Given the description of an element on the screen output the (x, y) to click on. 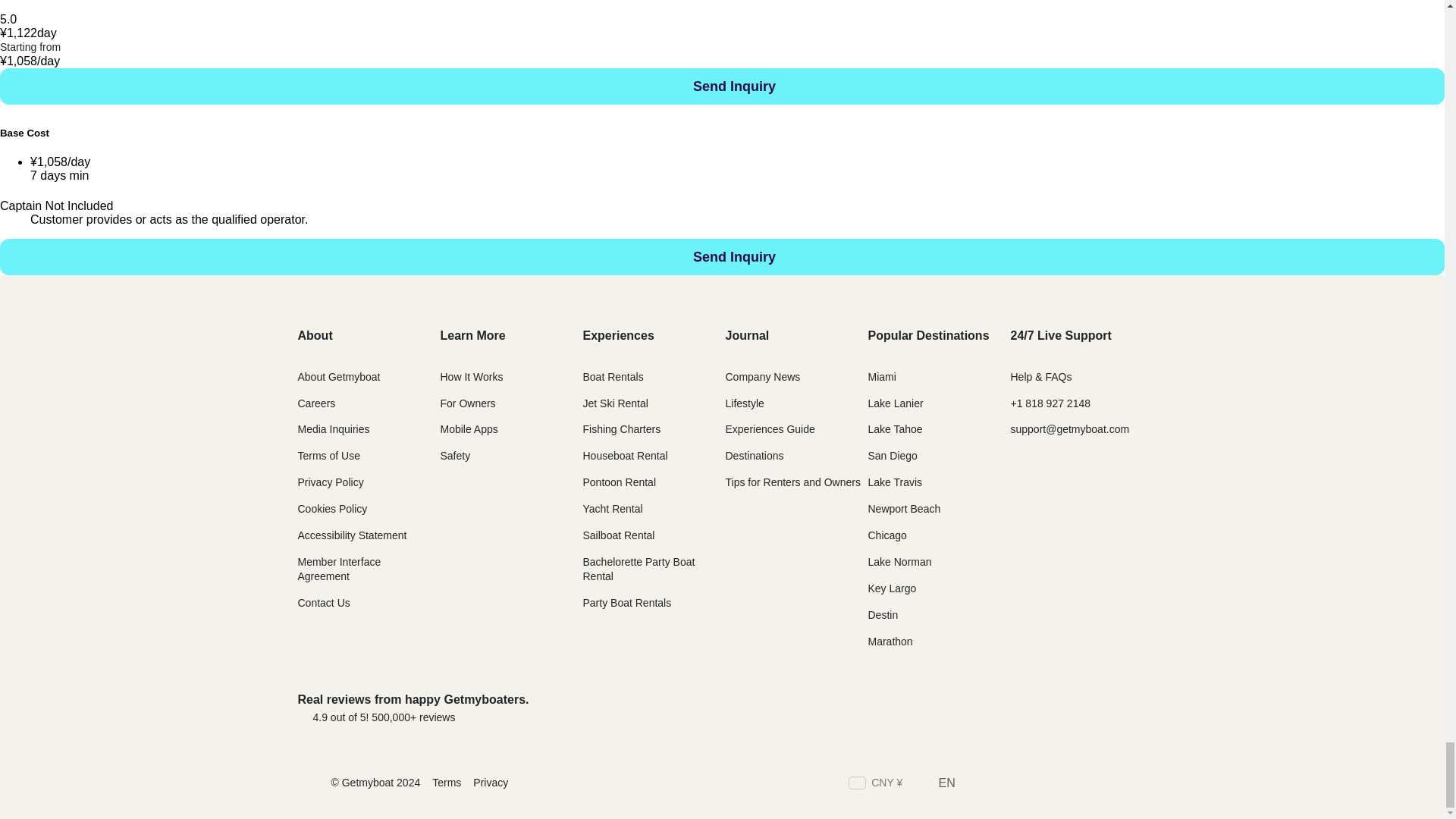
Contact Us (323, 603)
YouTube (1139, 784)
For Owners (467, 403)
Instagram (1029, 784)
Terms of Use (328, 455)
Member Interface Agreement (338, 569)
LinkedIn (1056, 784)
Accessibility Statement (351, 535)
About Getmyboat (338, 377)
Cookies Policy (331, 508)
Media Inquiries (333, 428)
Get it on Google Play (1096, 707)
Privacy Policy (329, 481)
Careers (315, 403)
Download on the App Store (977, 707)
